Given the description of an element on the screen output the (x, y) to click on. 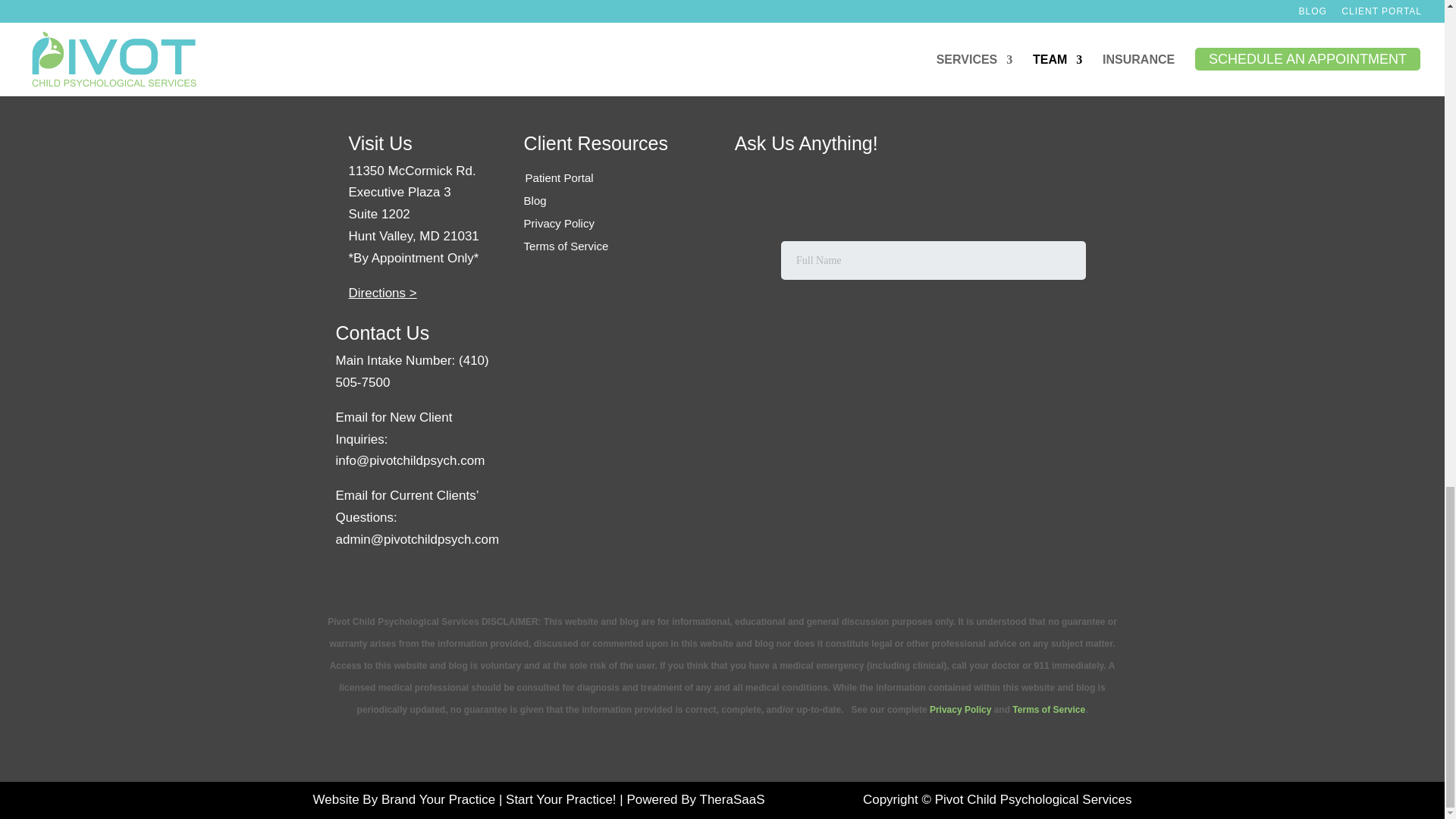
Patient Portal (559, 177)
Visit Us (380, 142)
Contact Us (381, 332)
Privacy Policy (559, 223)
Terms of Service (1047, 709)
Start Your Practice! (560, 799)
Brand Your Practice (438, 799)
Terms of Service (566, 245)
TheraSaaS (732, 799)
Privacy Policy (960, 709)
